Given the description of an element on the screen output the (x, y) to click on. 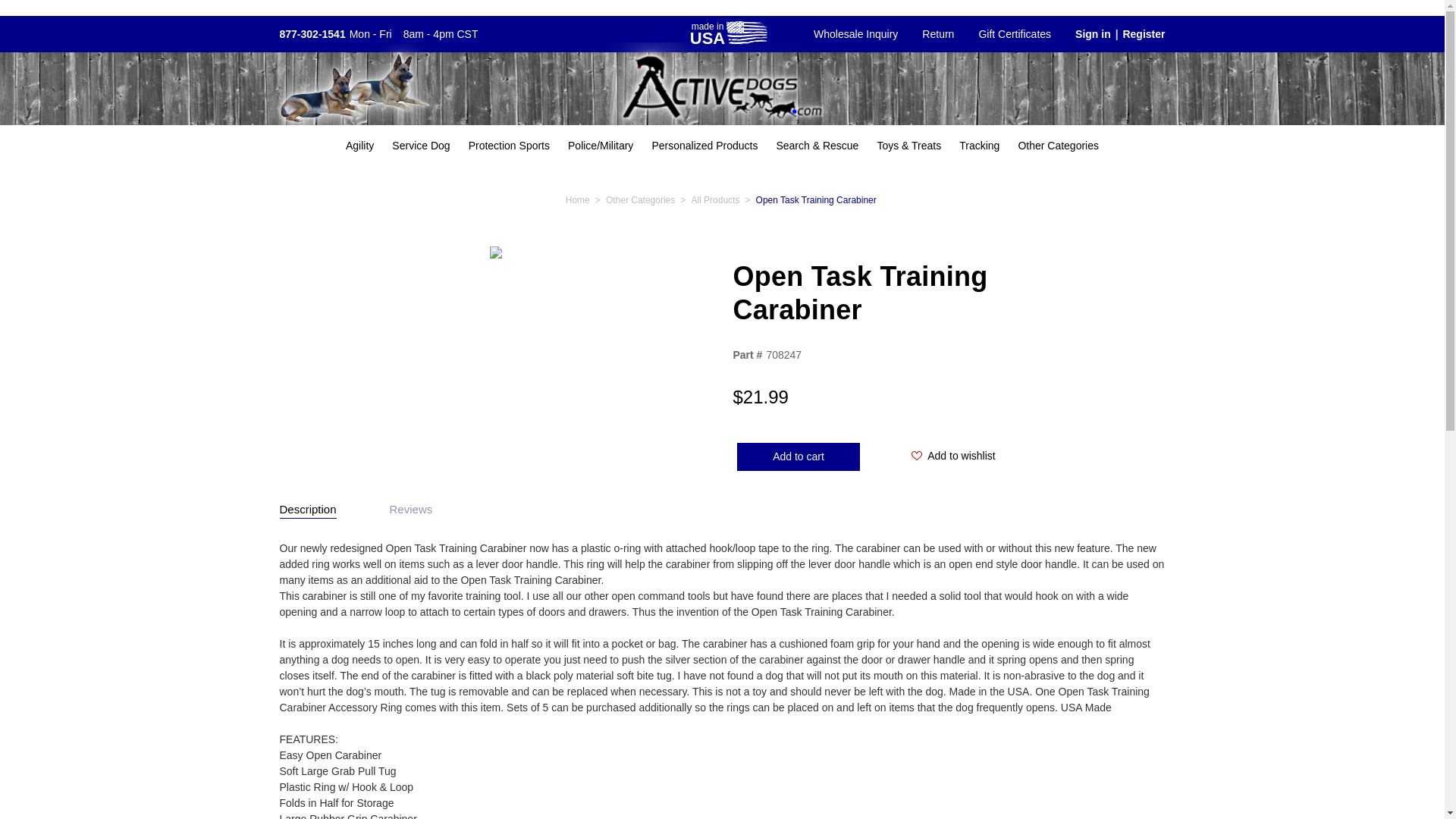
Service Dog (420, 145)
Protection Sports (509, 145)
made in USA (727, 33)
Wholesale Inquiry (856, 34)
Add to cart (798, 456)
Gift Certificates (1014, 34)
Register (1149, 34)
Sign in (1086, 34)
Return (938, 34)
Agility (359, 145)
